Given the description of an element on the screen output the (x, y) to click on. 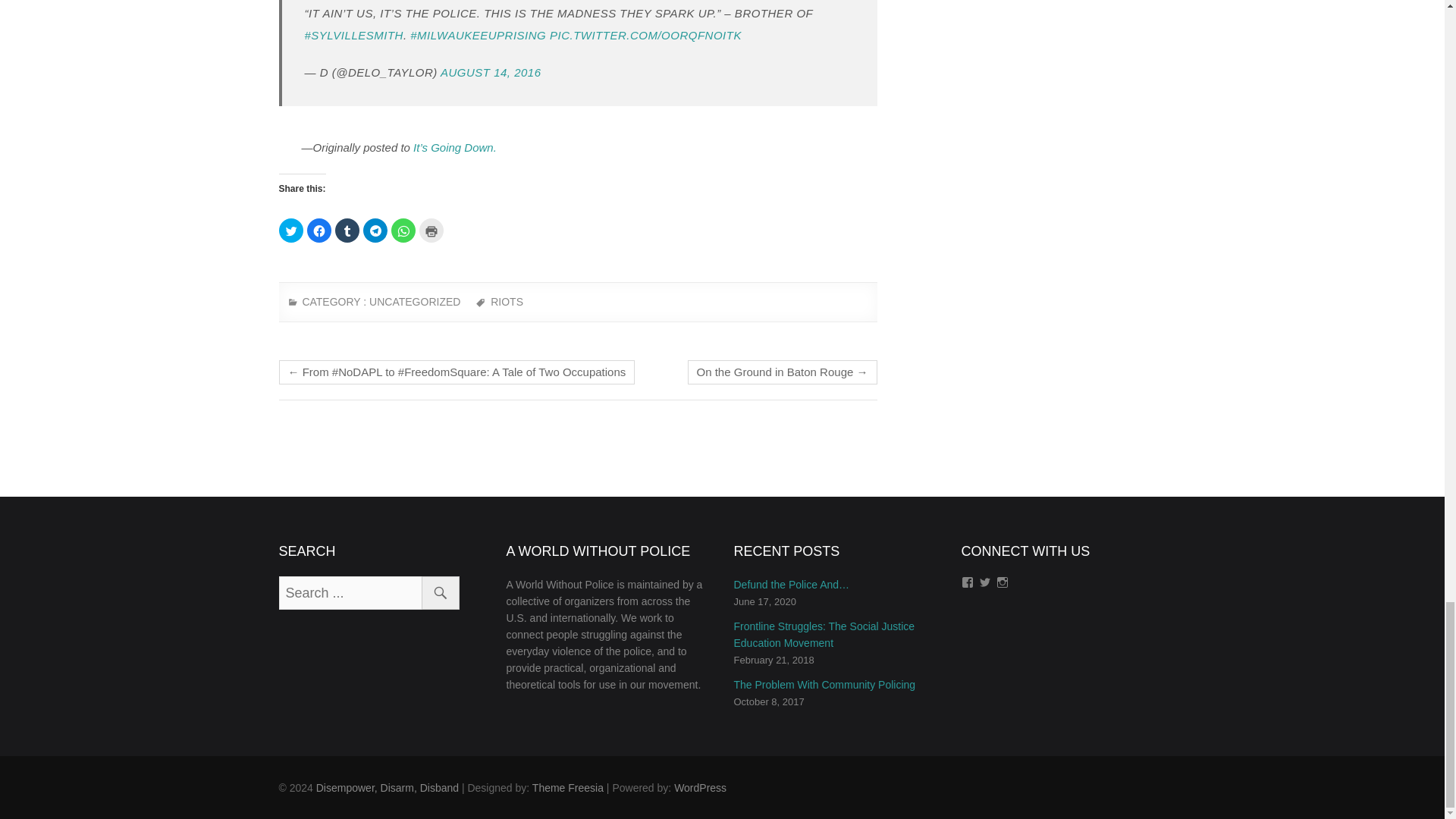
Click to share on WhatsApp (402, 230)
WordPress (700, 787)
Click to share on Telegram (374, 230)
Click to share on Twitter (290, 230)
Click to share on Tumblr (346, 230)
Themefreesia (568, 787)
AUGUST 14, 2016 (491, 72)
Click to print (430, 230)
Disempower, Disarm, Disband (386, 787)
Click to share on Facebook (317, 230)
